Given the description of an element on the screen output the (x, y) to click on. 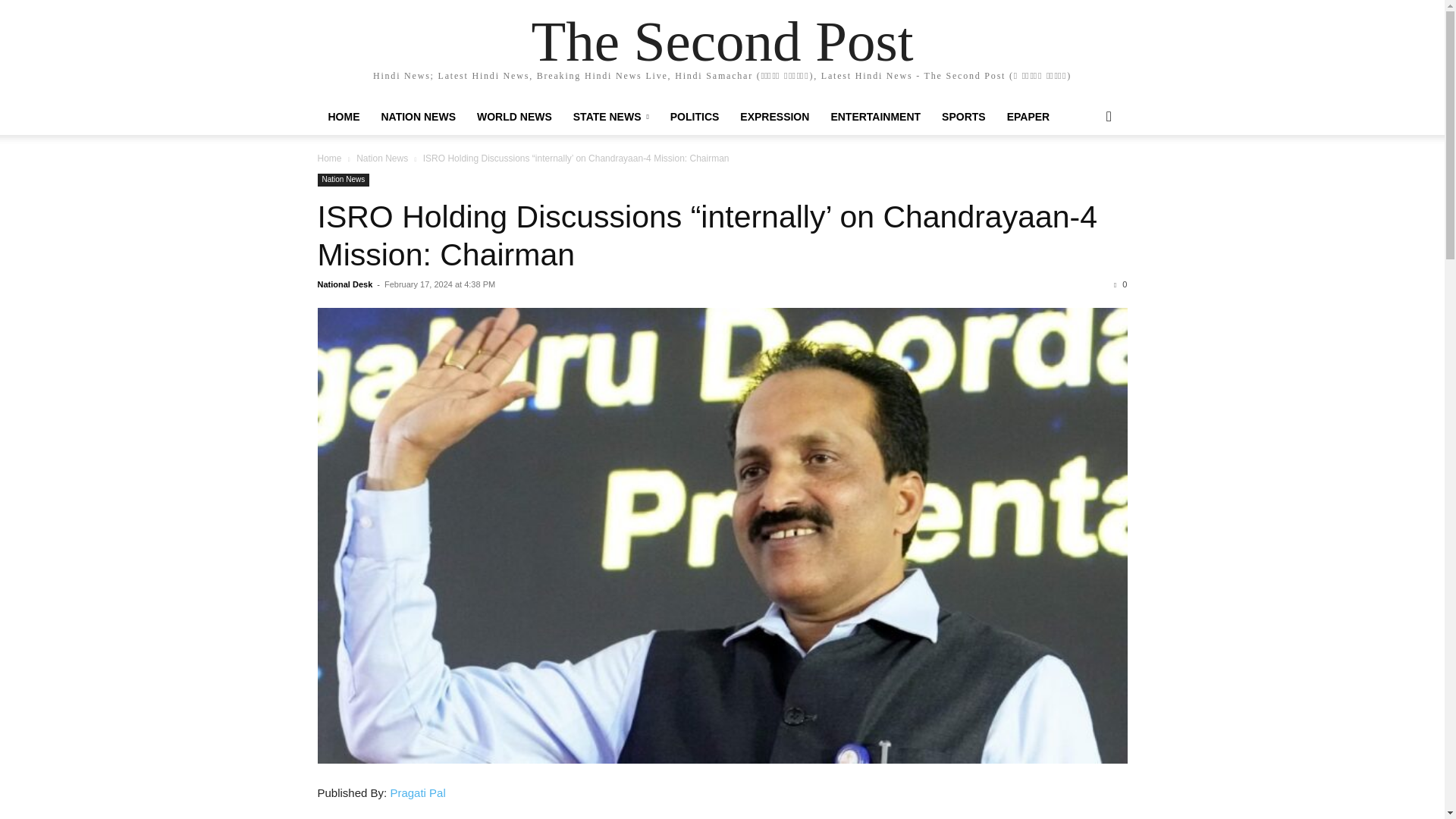
HOME (343, 116)
POLITICS (694, 116)
EPAPER (1028, 116)
WORLD NEWS (513, 116)
ENTERTAINMENT (875, 116)
NATION NEWS (417, 116)
EXPRESSION (774, 116)
Home (328, 158)
The Second Post (721, 41)
STATE NEWS (610, 116)
SPORTS (963, 116)
View all posts in Nation News (381, 158)
Search (1085, 177)
